Given the description of an element on the screen output the (x, y) to click on. 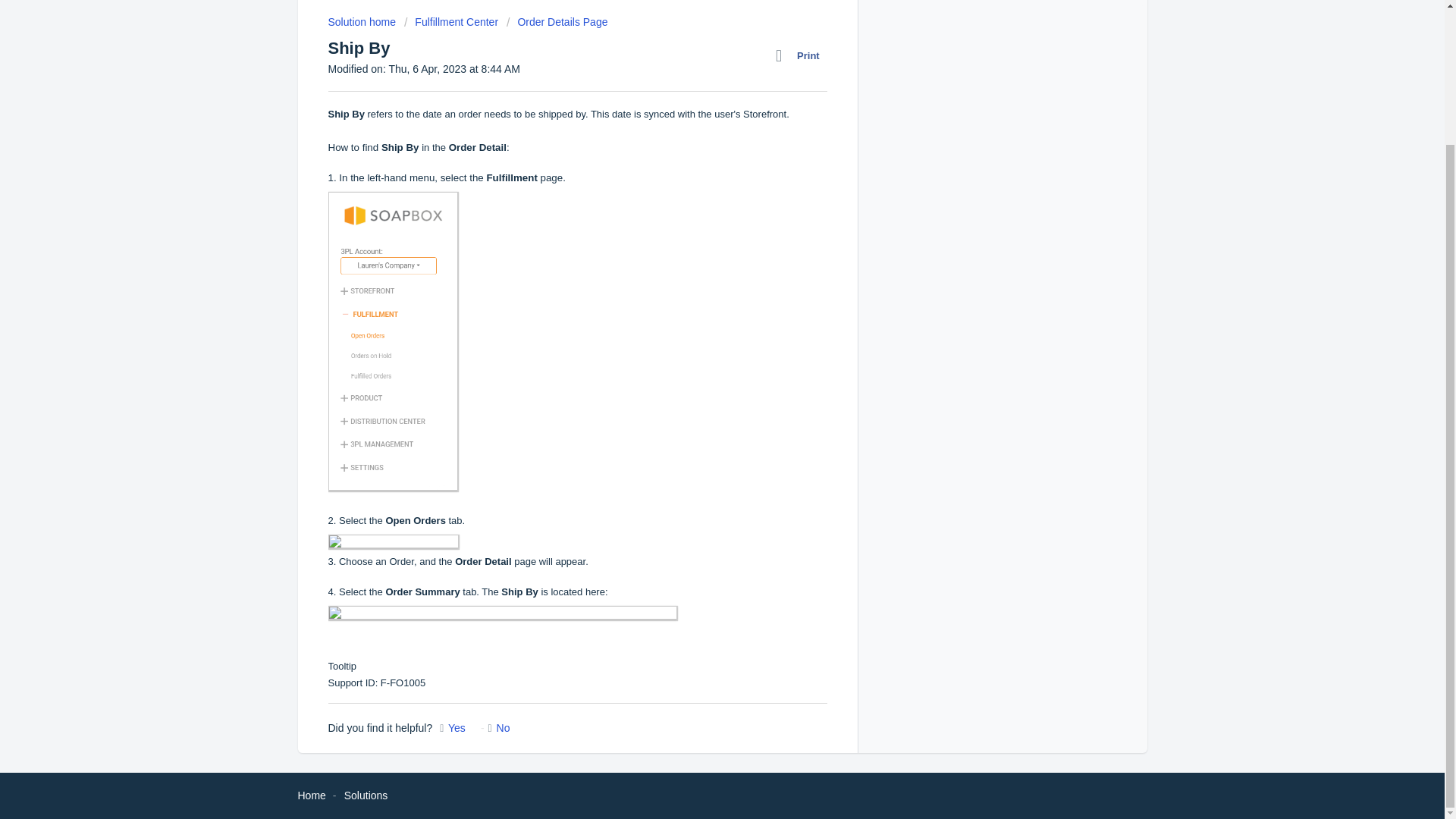
Solutions (365, 795)
Fulfillment Center (450, 21)
Solution home (362, 21)
Home (310, 795)
Print (801, 55)
Print this Article (801, 55)
Order Details Page (557, 21)
